Given the description of an element on the screen output the (x, y) to click on. 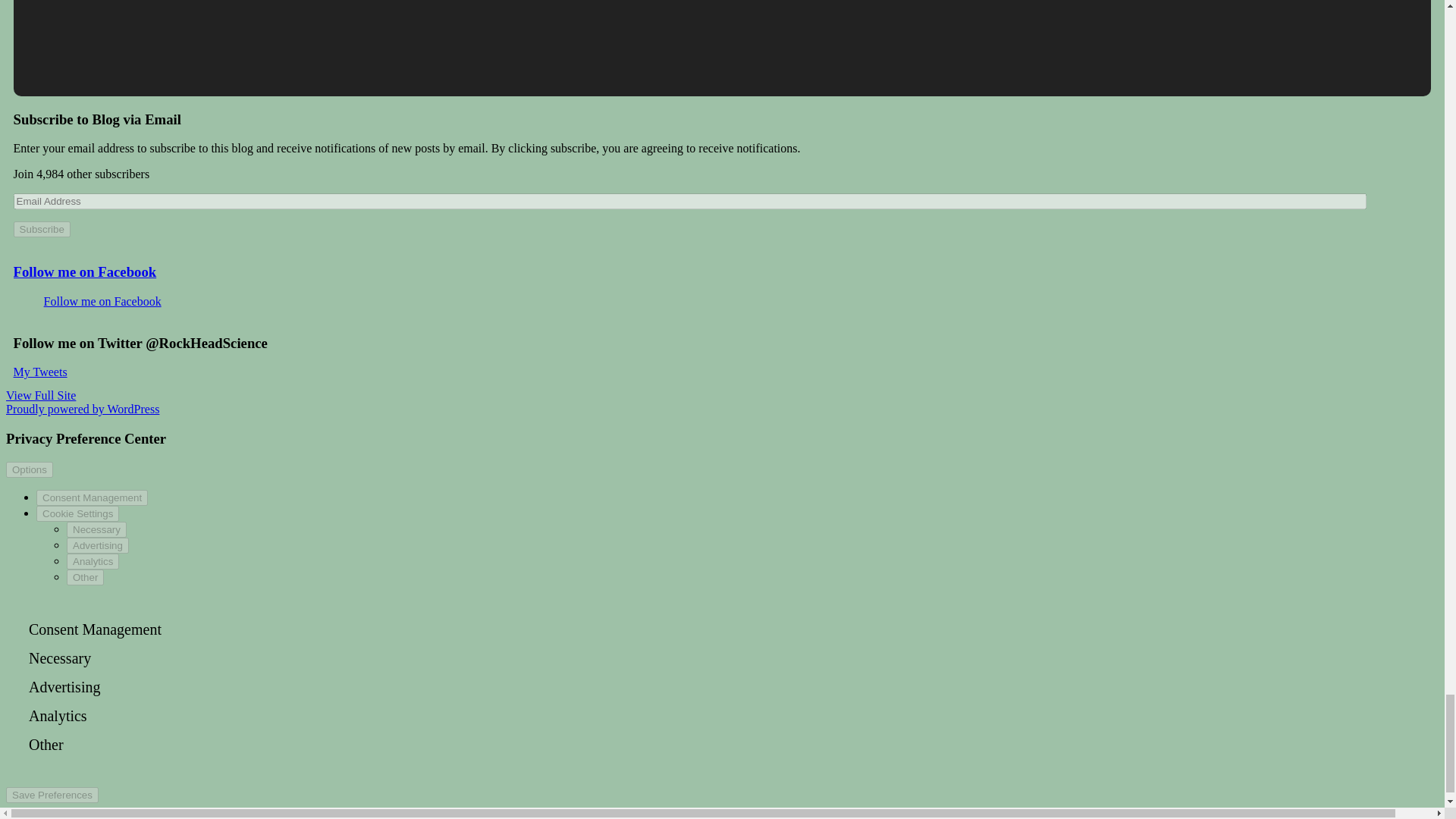
Semantic Personal Publishing Platform (81, 408)
Save Preferences (52, 795)
